Given the description of an element on the screen output the (x, y) to click on. 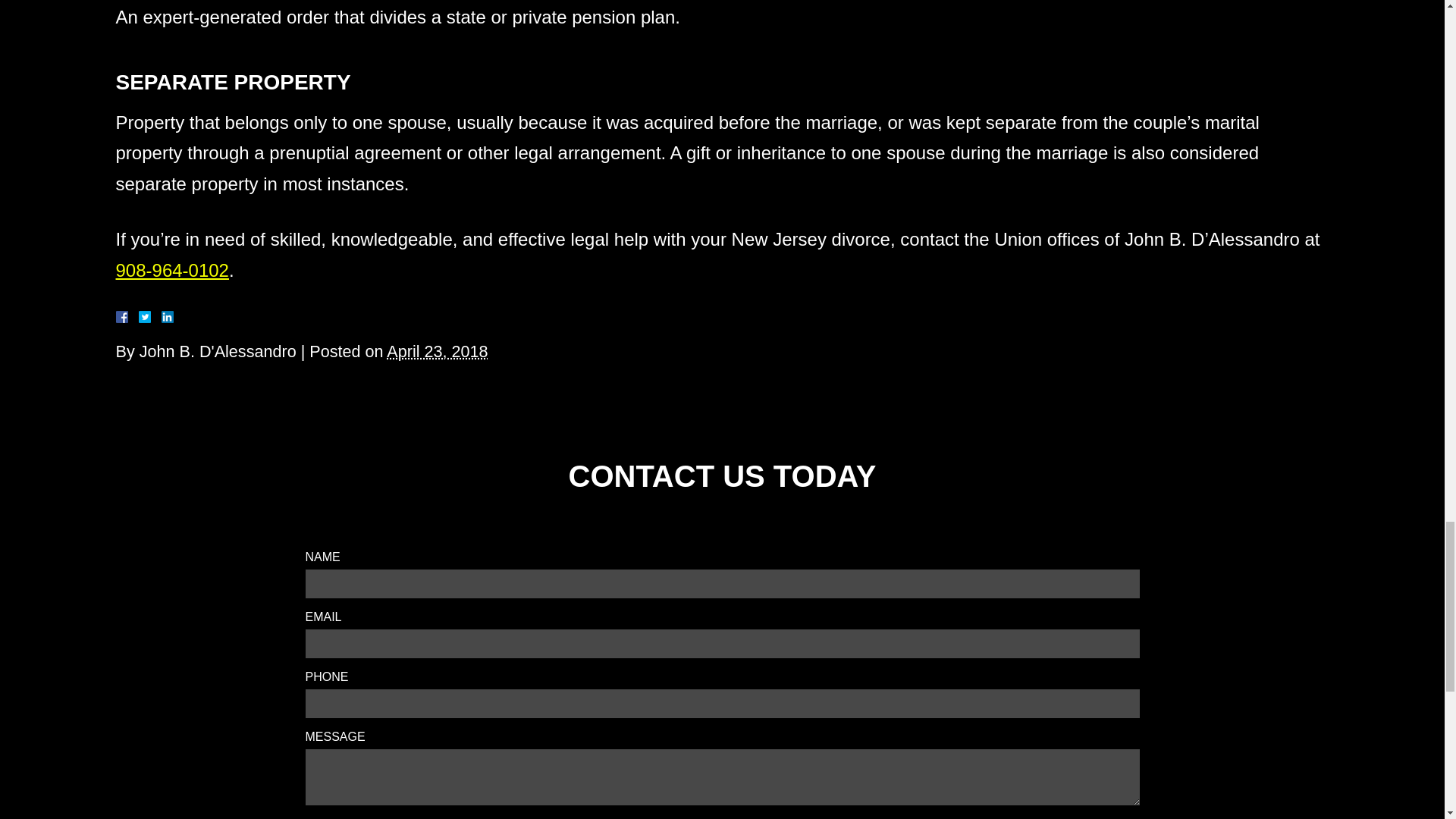
2018-04-23T09:33:48-0700 (437, 351)
Facebook (139, 316)
LinkedIn (160, 316)
Twitter (149, 316)
